Given the description of an element on the screen output the (x, y) to click on. 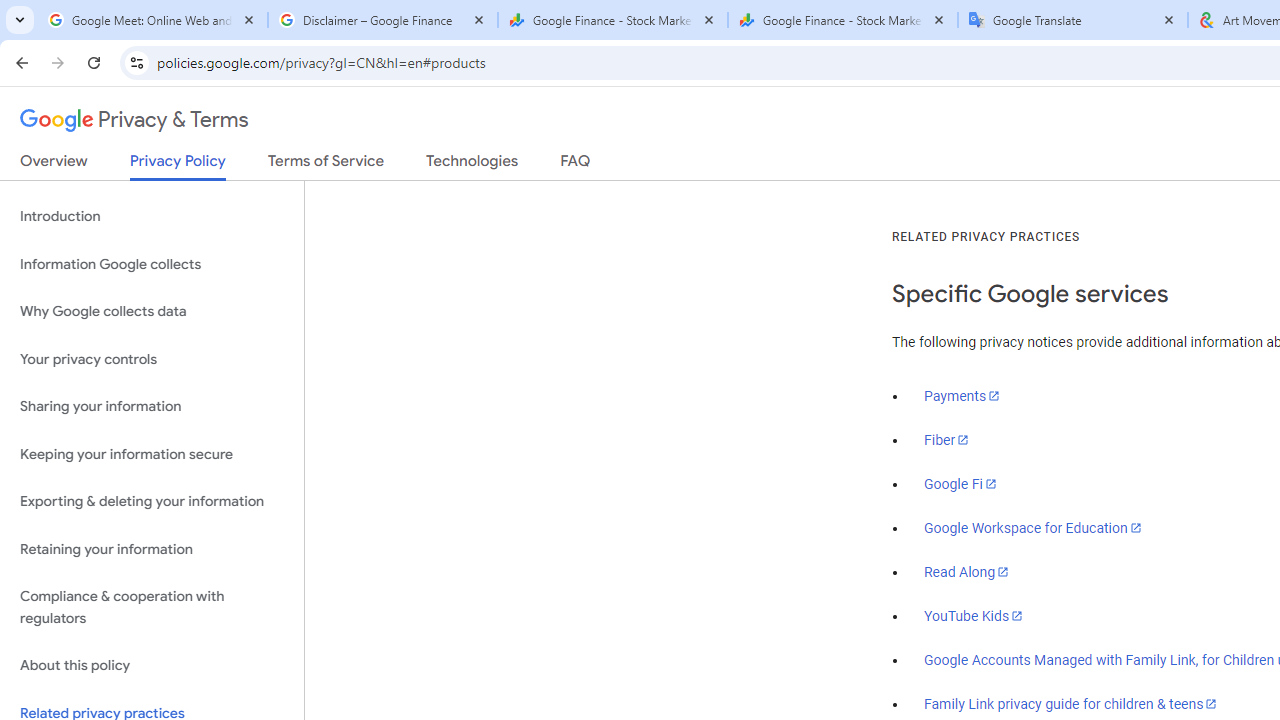
Compliance & cooperation with regulators (152, 607)
Why Google collects data (152, 312)
Google Workspace for Education (1032, 528)
Exporting & deleting your information (152, 502)
Your privacy controls (152, 358)
Sharing your information (152, 407)
Family Link privacy guide for children & teens (1071, 703)
Retaining your information (152, 548)
Keeping your information secure (152, 453)
